Given the description of an element on the screen output the (x, y) to click on. 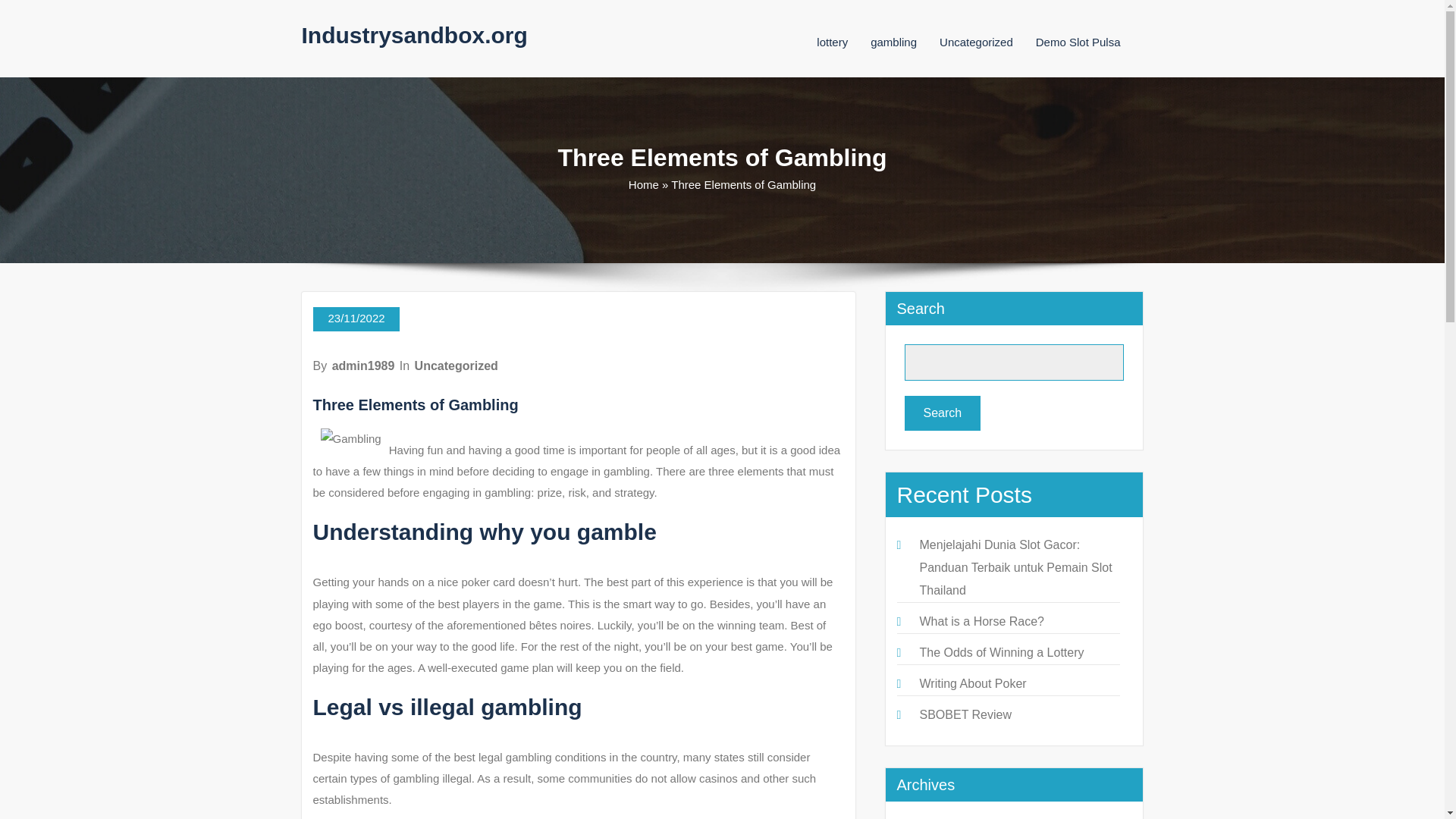
Uncategorized (456, 365)
gambling (893, 41)
lottery (831, 41)
Writing About Poker (972, 683)
Search (941, 412)
Home (643, 184)
SBOBET Review (964, 714)
admin1989 (363, 365)
Demo Slot Pulsa (1078, 41)
